Given the description of an element on the screen output the (x, y) to click on. 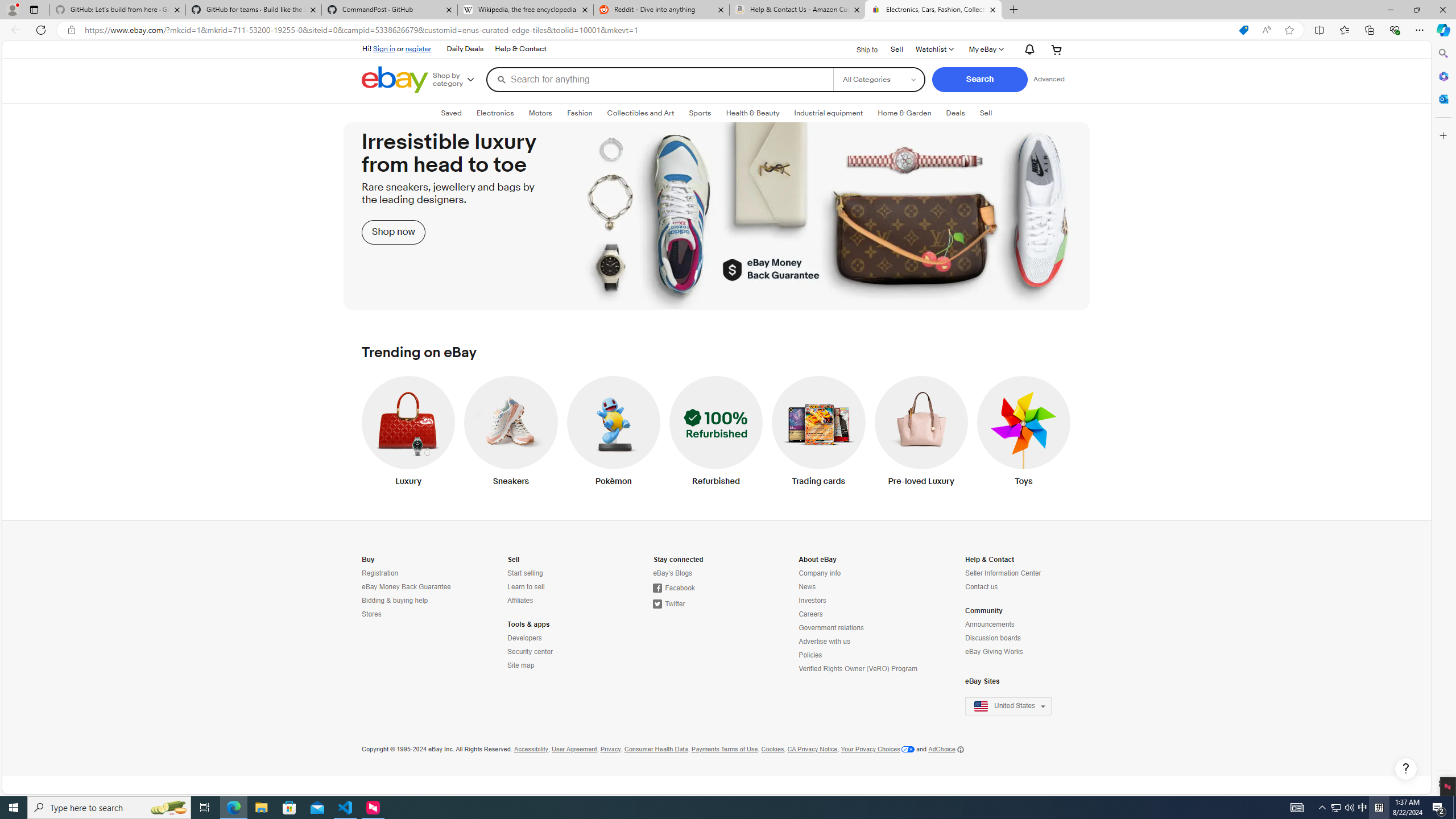
United States (1015, 705)
Policies (858, 655)
Health & Beauty (752, 112)
Irresistible luxury from head to toe (716, 215)
About eBay (817, 559)
Collectibles and Art (640, 112)
Help, opens dialogs (1405, 768)
Consumer Health Data (656, 749)
